Given the description of an element on the screen output the (x, y) to click on. 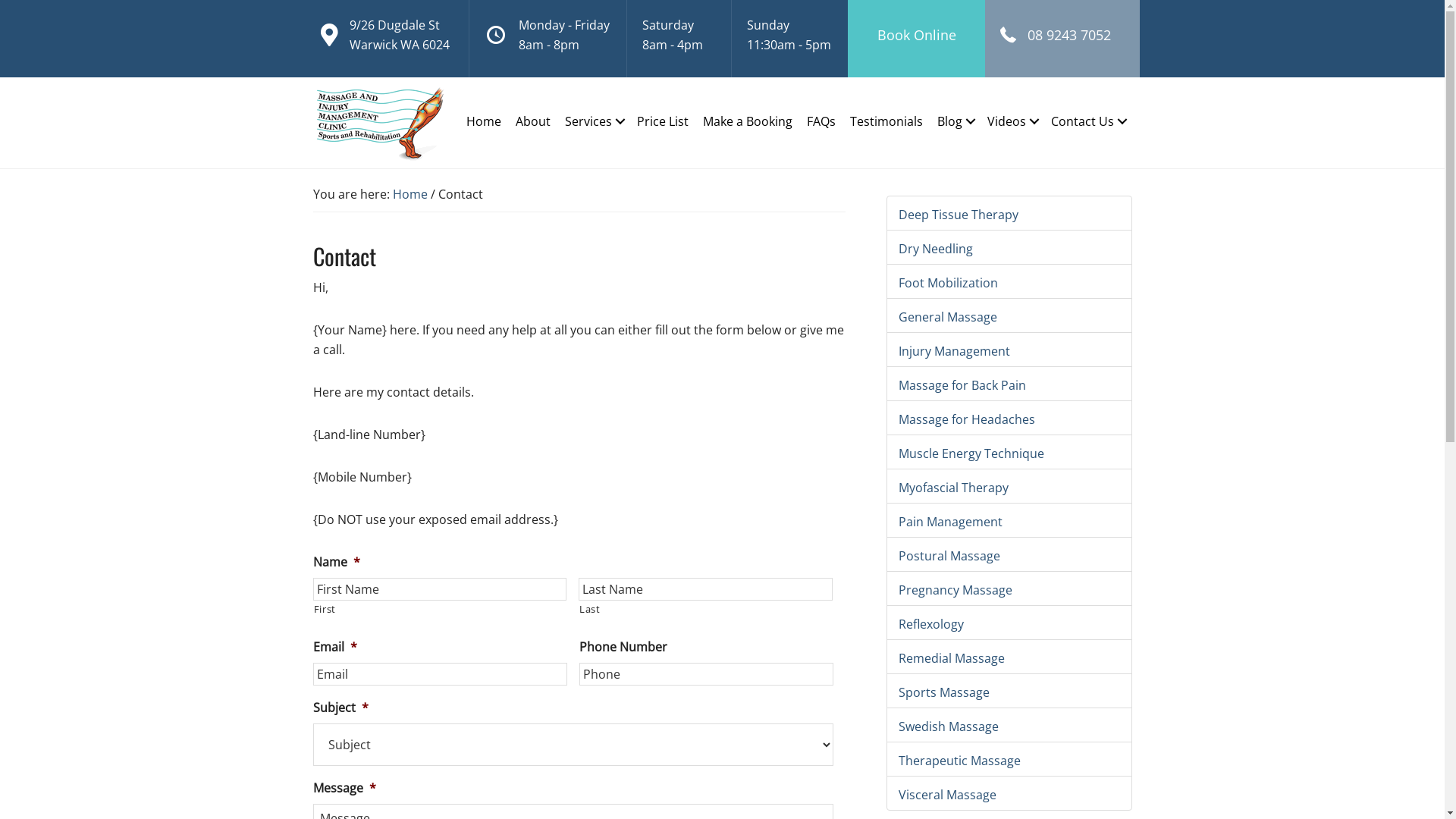
FAQs Element type: text (820, 121)
Skip to main content Element type: text (0, 0)
Swedish Massage Element type: text (947, 726)
Massage for Headaches Element type: text (965, 419)
Massage for Back Pain Element type: text (961, 384)
Videos Element type: text (1010, 121)
Book Online Element type: text (916, 34)
Visceral Massage Element type: text (946, 794)
Muscle Energy Technique Element type: text (970, 453)
Foot Mobilization Element type: text (947, 282)
Home Element type: text (483, 121)
General Massage Element type: text (946, 316)
Blog Element type: text (954, 121)
Reflexology Element type: text (930, 623)
Services Element type: text (593, 121)
Dry Needling Element type: text (934, 248)
Make a Booking Element type: text (747, 121)
Testimonials Element type: text (886, 121)
Postural Massage Element type: text (948, 555)
Injury Management Element type: text (953, 350)
About Element type: text (532, 121)
Contact Us Element type: text (1086, 121)
Sports Massage Element type: text (942, 692)
Therapeutic Massage Element type: text (958, 760)
logo Element type: hover (380, 122)
Pregnancy Massage Element type: text (954, 589)
Price List Element type: text (661, 121)
Remedial Massage Element type: text (950, 657)
Deep Tissue Therapy Element type: text (957, 214)
Home Element type: text (409, 193)
Pain Management Element type: text (949, 521)
Myofascial Therapy Element type: text (952, 487)
